Given the description of an element on the screen output the (x, y) to click on. 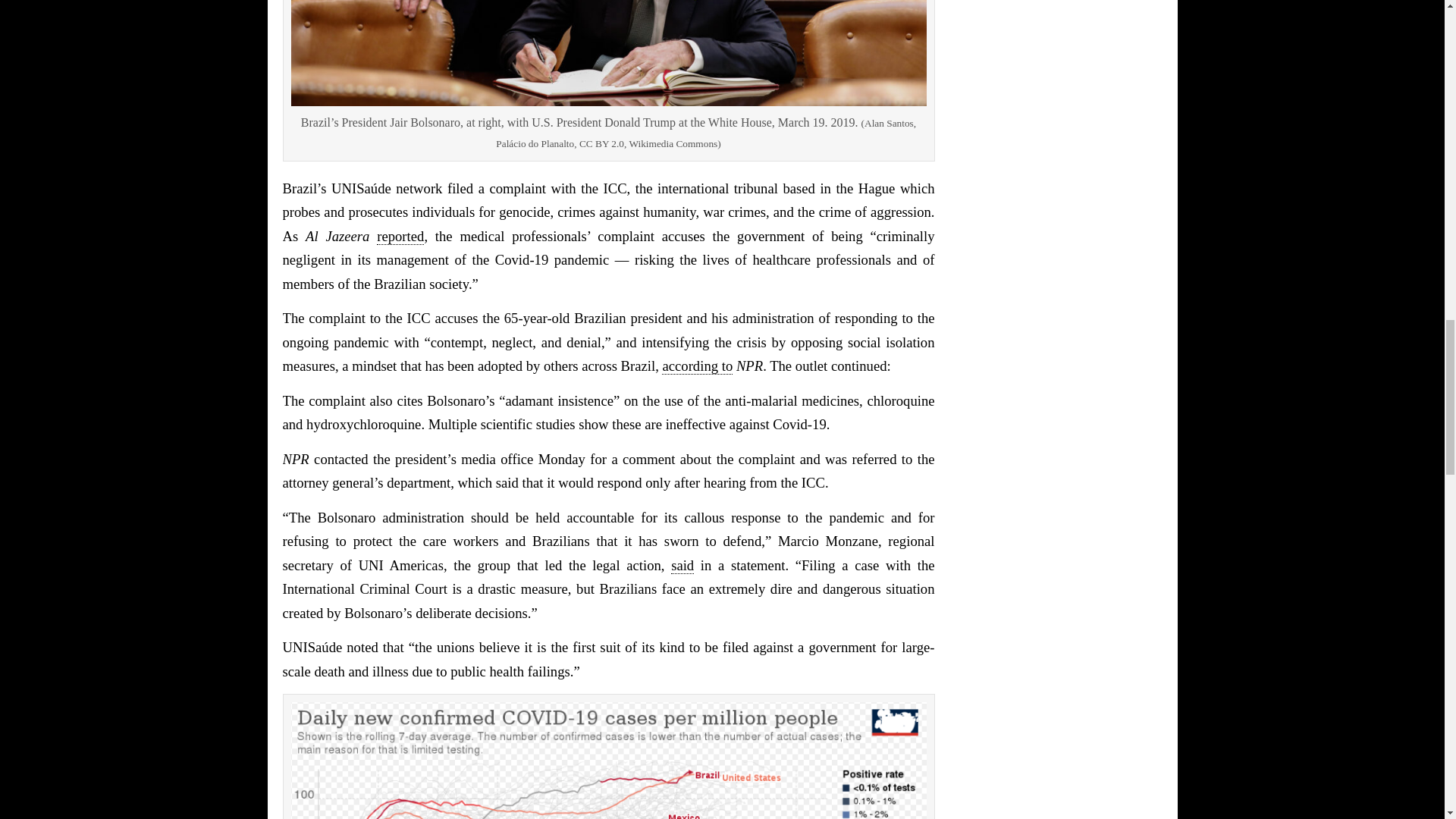
according to (697, 365)
said (682, 565)
reported (400, 236)
